Given the description of an element on the screen output the (x, y) to click on. 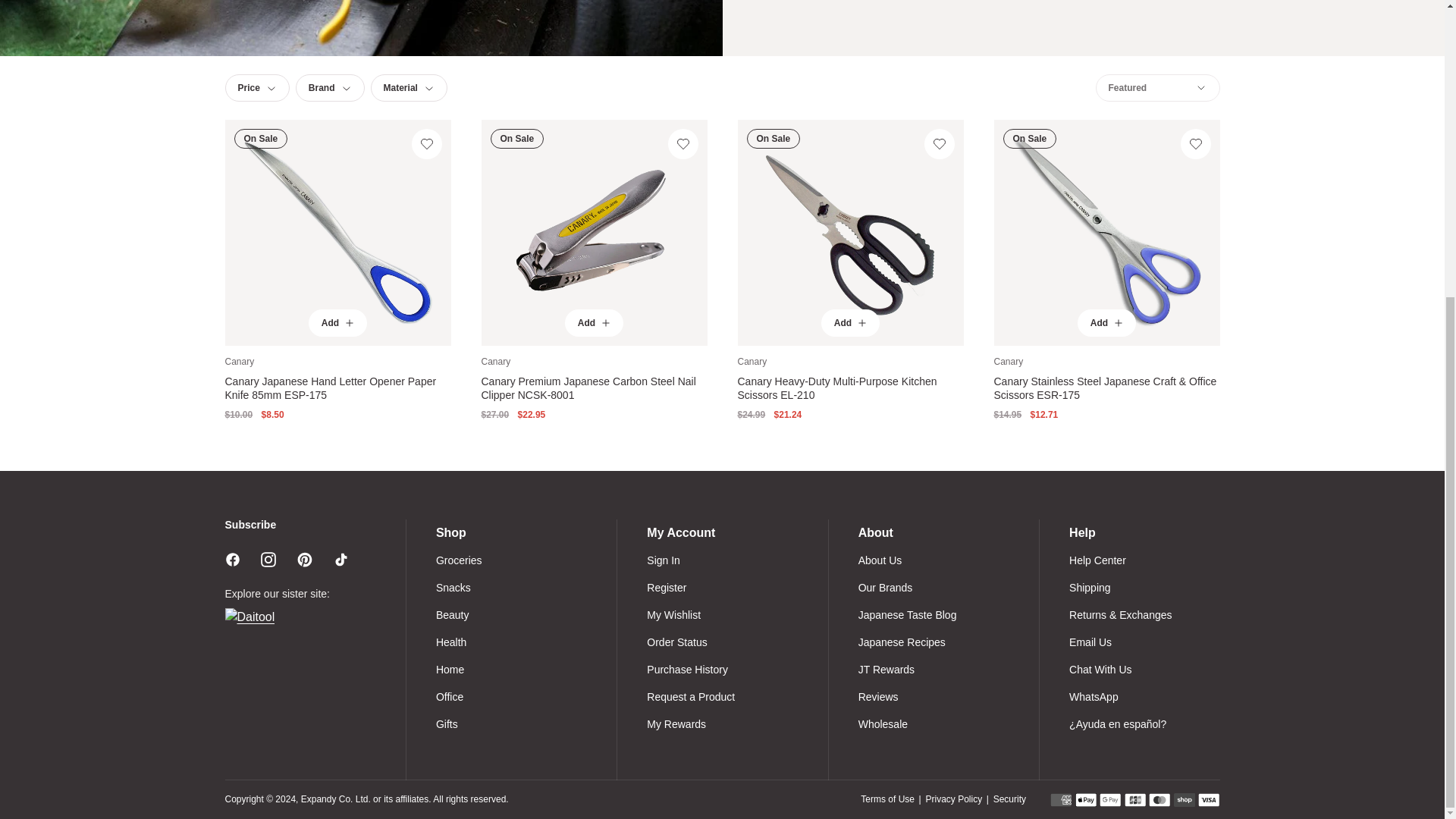
Japanese Taste on Pinterest (305, 559)
Japanese Taste on TikTok (341, 559)
Japanese Taste on Instagram (268, 559)
Japanese Taste on Facebook (232, 559)
